Given the description of an element on the screen output the (x, y) to click on. 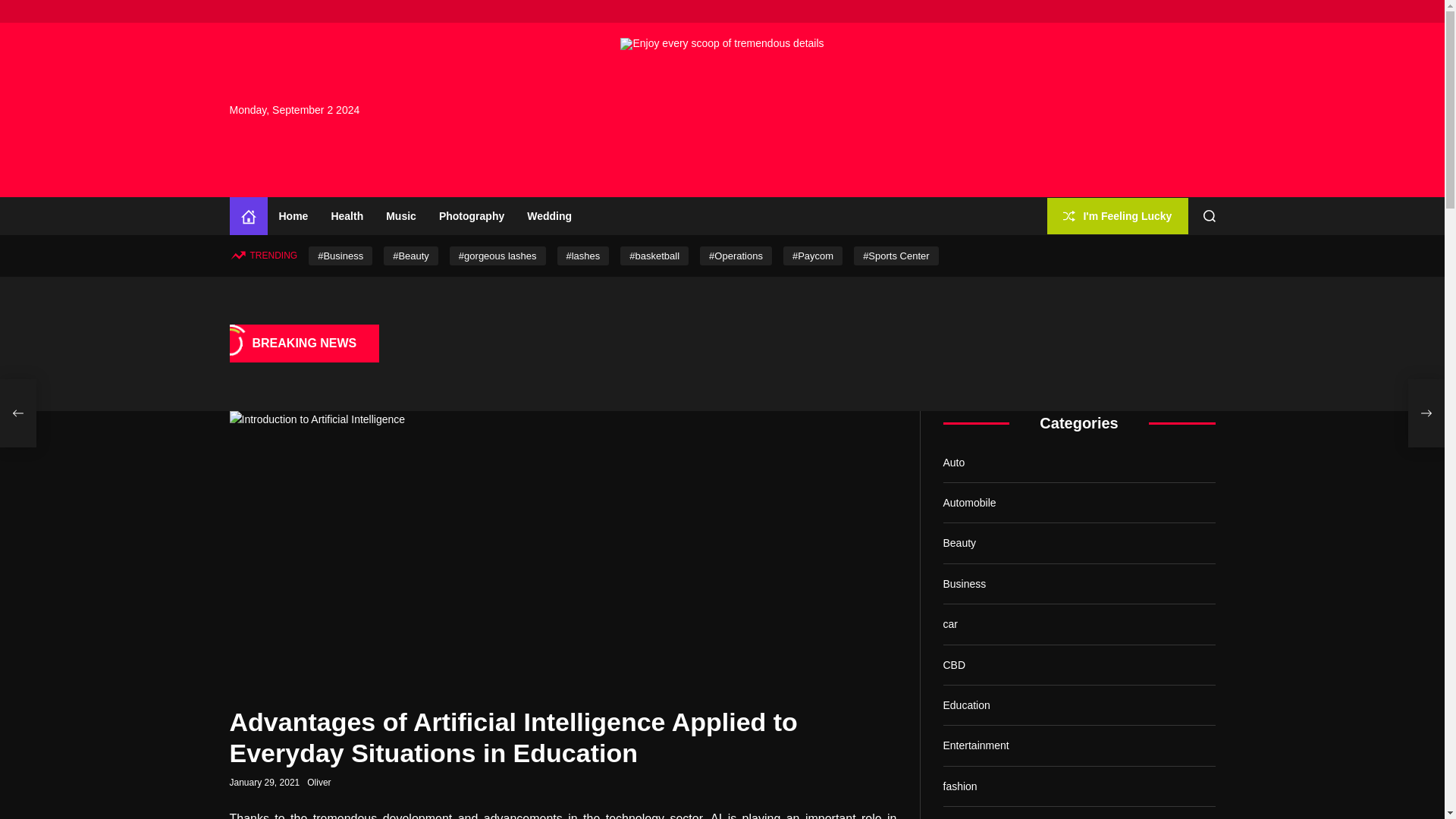
Search (1209, 215)
Wedding (549, 216)
Home (247, 216)
Oliver (318, 782)
Photography (471, 216)
Home (292, 216)
Health (346, 216)
January 29, 2021 (263, 782)
I'm Feeling Lucky (1117, 216)
Music (401, 216)
